Given the description of an element on the screen output the (x, y) to click on. 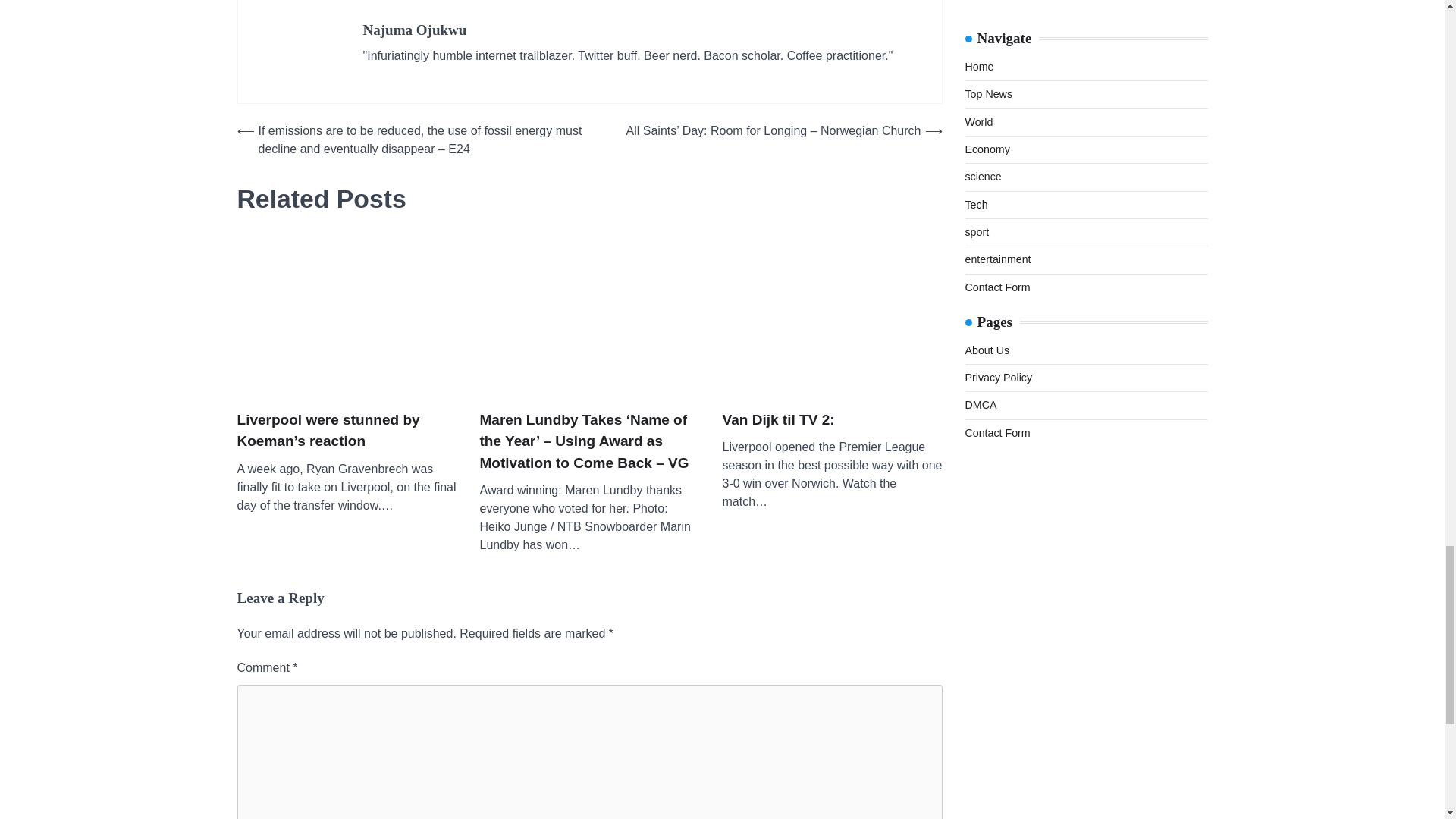
Van Dijk til TV 2: (778, 420)
Van Dijk til TV 2: (832, 316)
